Given the description of an element on the screen output the (x, y) to click on. 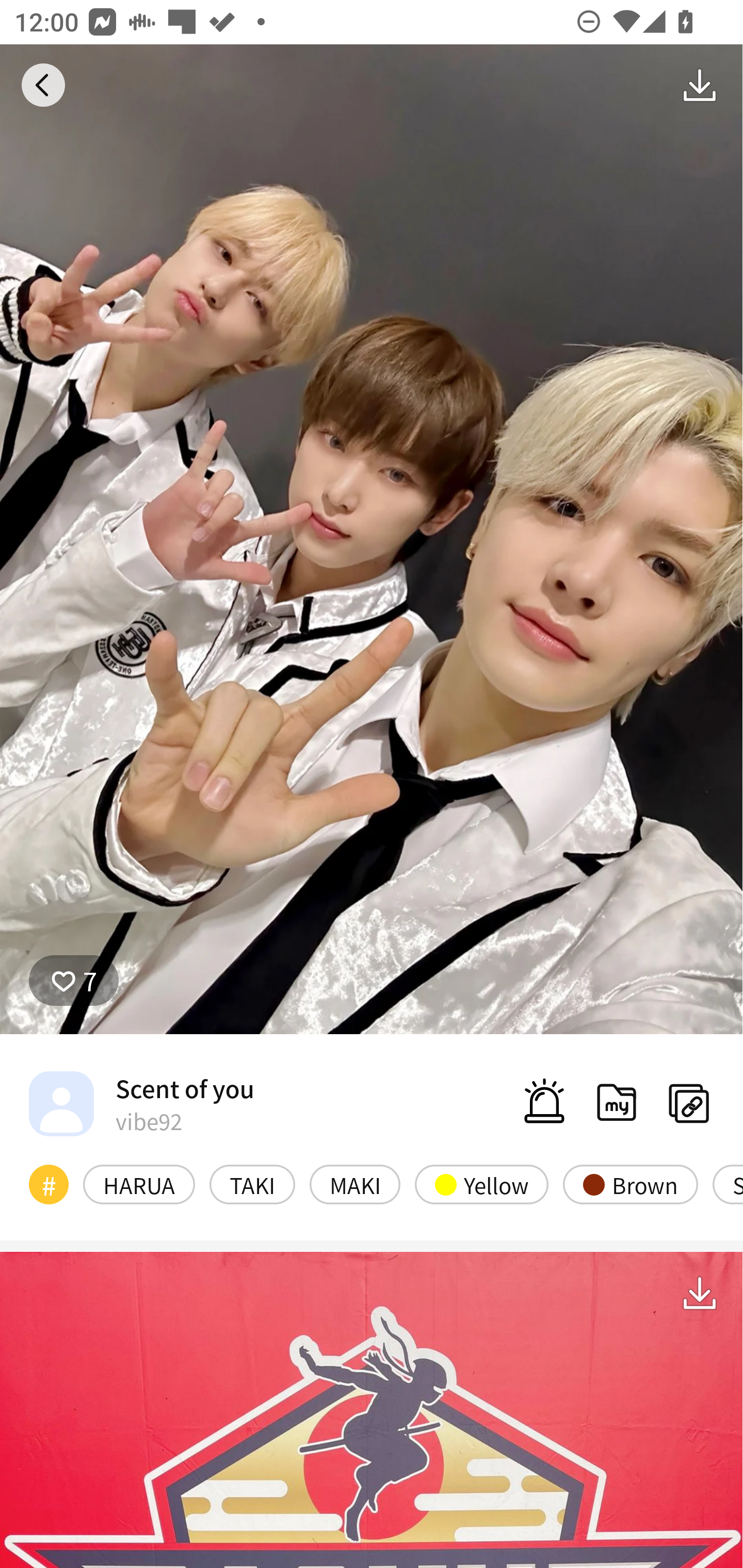
7 (73, 980)
Scent of you vibe92 (141, 1102)
HARUA (138, 1184)
TAKI (251, 1184)
MAKI (354, 1184)
Yellow (481, 1184)
Brown (630, 1184)
